Given the description of an element on the screen output the (x, y) to click on. 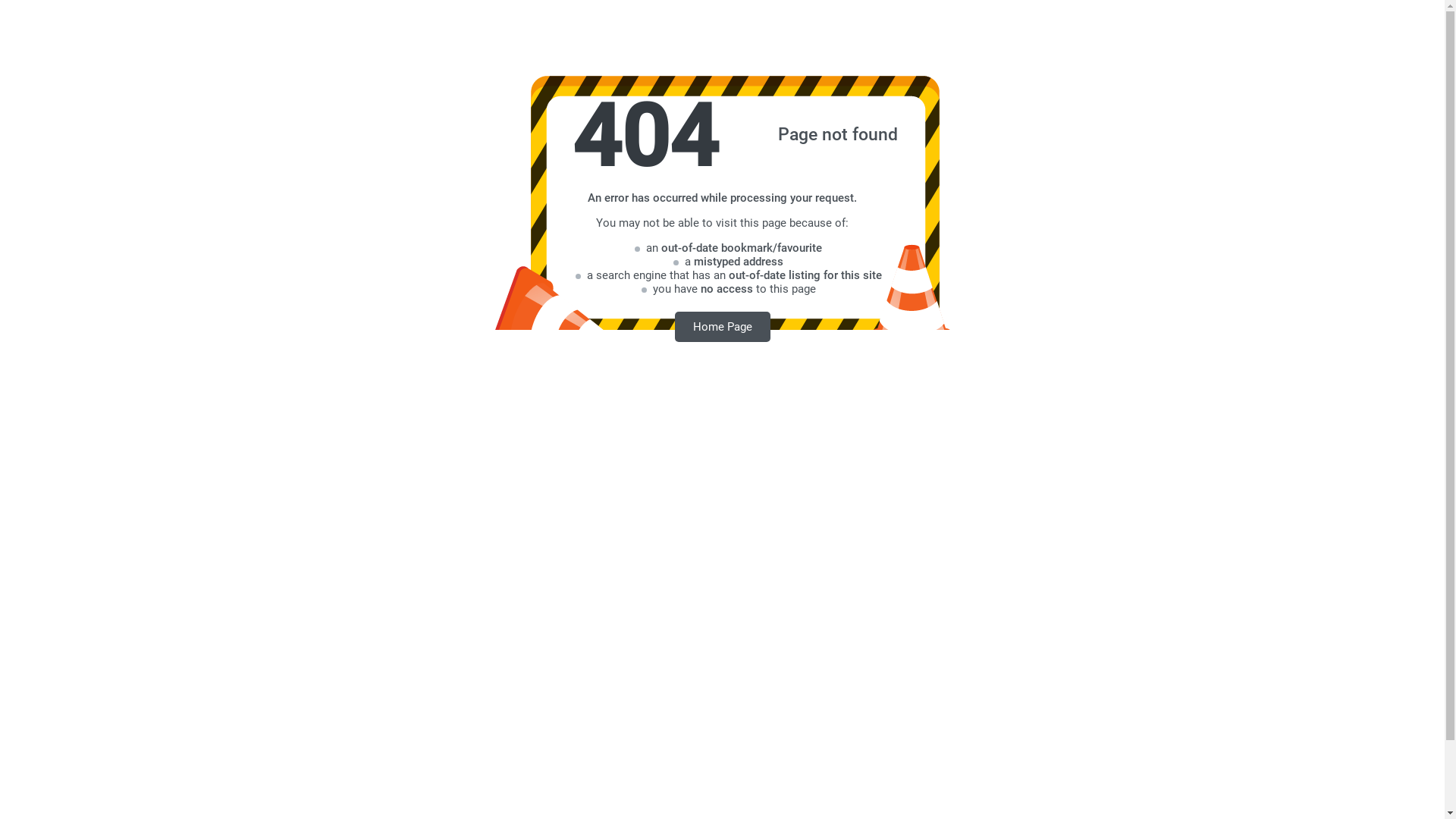
Home Page Element type: text (722, 326)
